Given the description of an element on the screen output the (x, y) to click on. 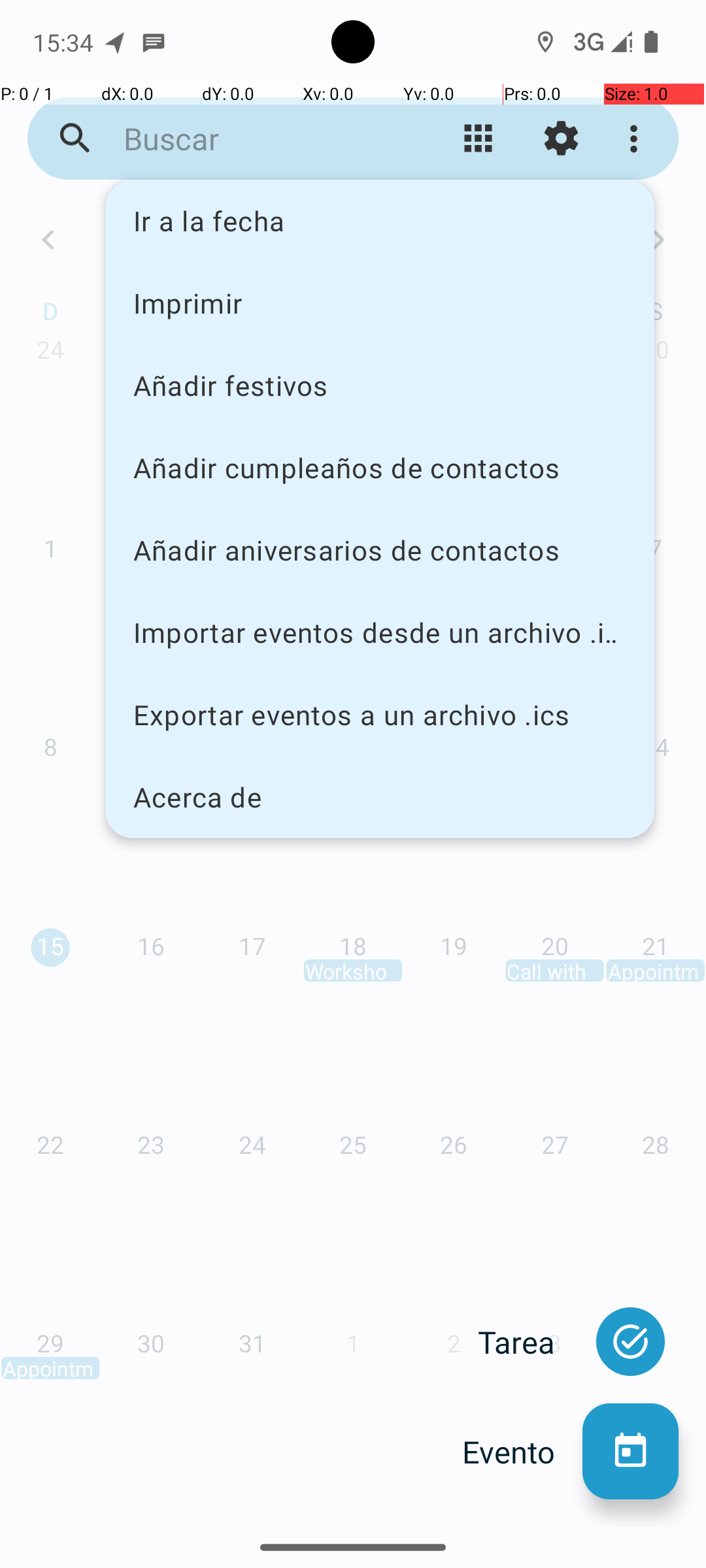
Ir a la fecha Element type: android.widget.TextView (379, 220)
Imprimir Element type: android.widget.TextView (379, 302)
Añadir festivos Element type: android.widget.TextView (379, 384)
Añadir cumpleaños de contactos Element type: android.widget.TextView (379, 467)
Añadir aniversarios de contactos Element type: android.widget.TextView (379, 549)
Importar eventos desde un archivo .ics Element type: android.widget.TextView (379, 631)
Exportar eventos a un archivo .ics Element type: android.widget.TextView (379, 714)
Acerca de Element type: android.widget.TextView (379, 796)
